Given the description of an element on the screen output the (x, y) to click on. 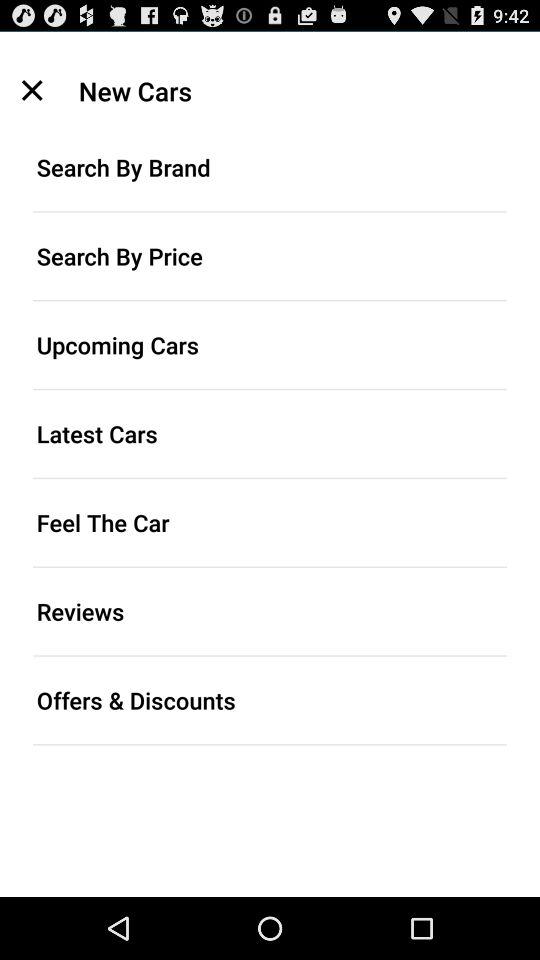
closeout (32, 90)
